Given the description of an element on the screen output the (x, y) to click on. 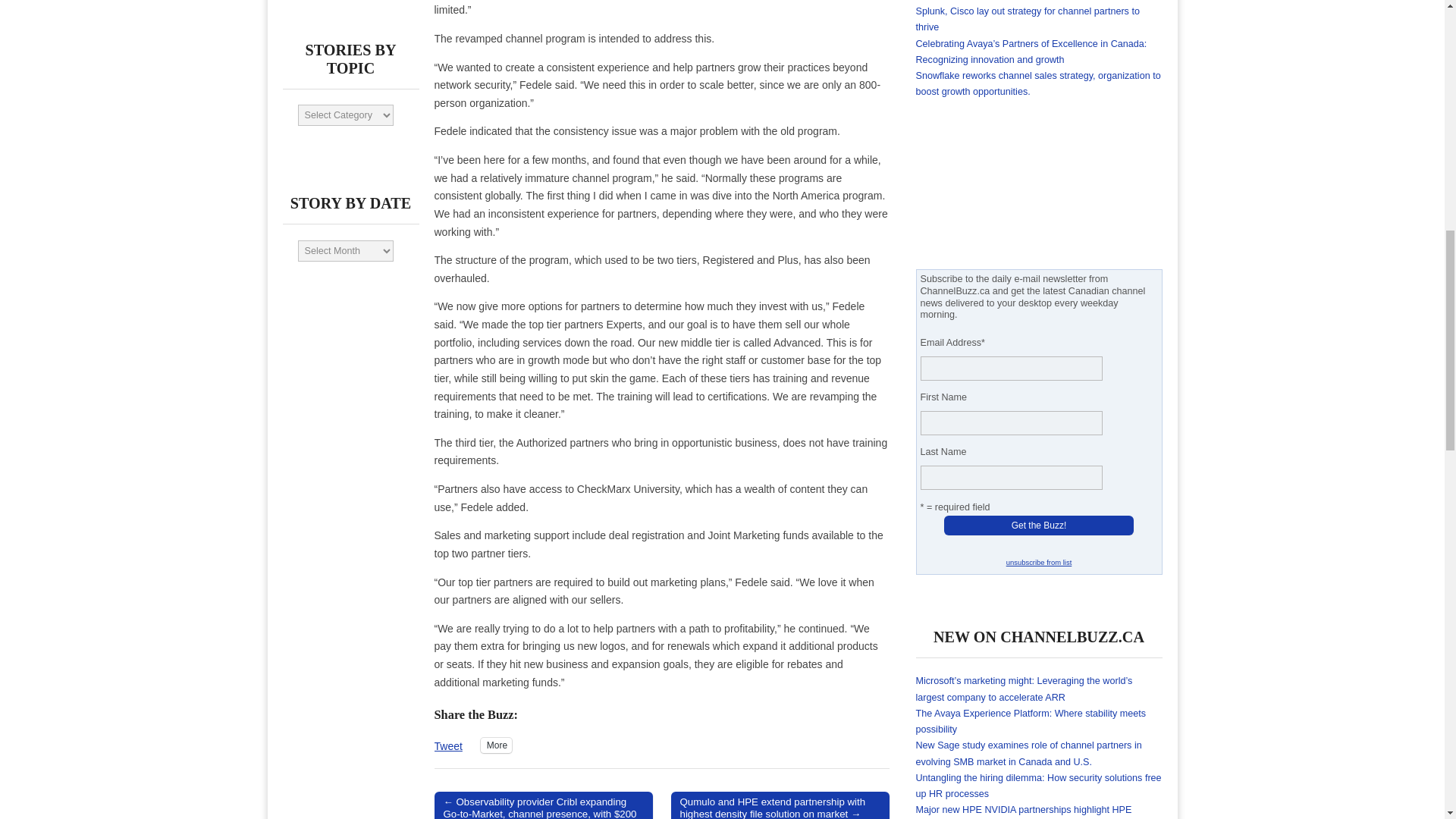
Get the Buzz! (1038, 525)
